Given the description of an element on the screen output the (x, y) to click on. 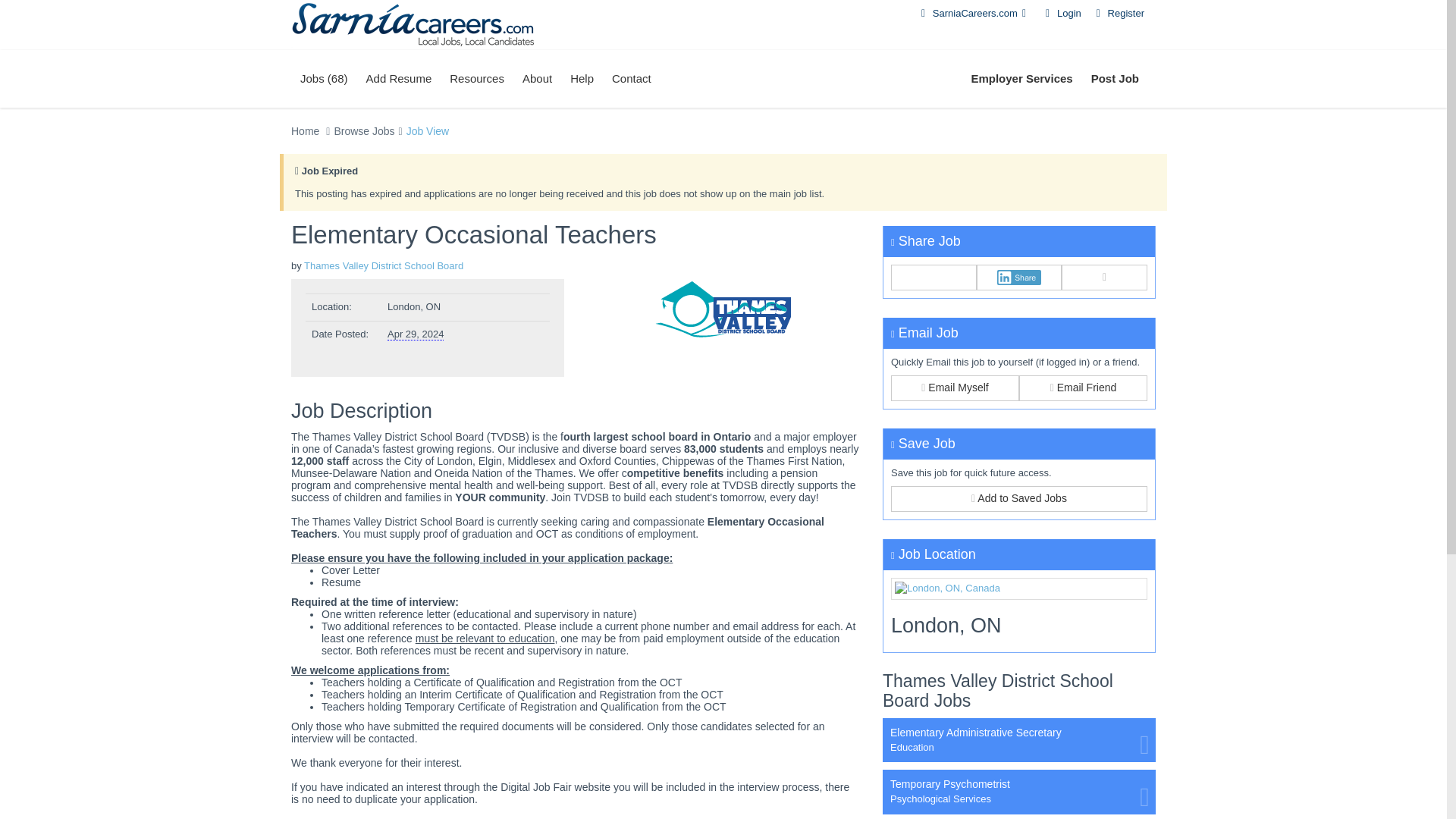
Home (304, 131)
Share (1019, 277)
About (536, 78)
Thames Valley District School Board (723, 311)
Help (581, 78)
Contact (631, 78)
Resources (477, 78)
Email Myself (955, 388)
Post Job (1114, 78)
Browse Jobs (363, 131)
Thames Valley District School Board (383, 265)
Employer Services (1020, 78)
Add Resume (398, 78)
London, ON, Canada (1019, 588)
Login (1061, 12)
